Given the description of an element on the screen output the (x, y) to click on. 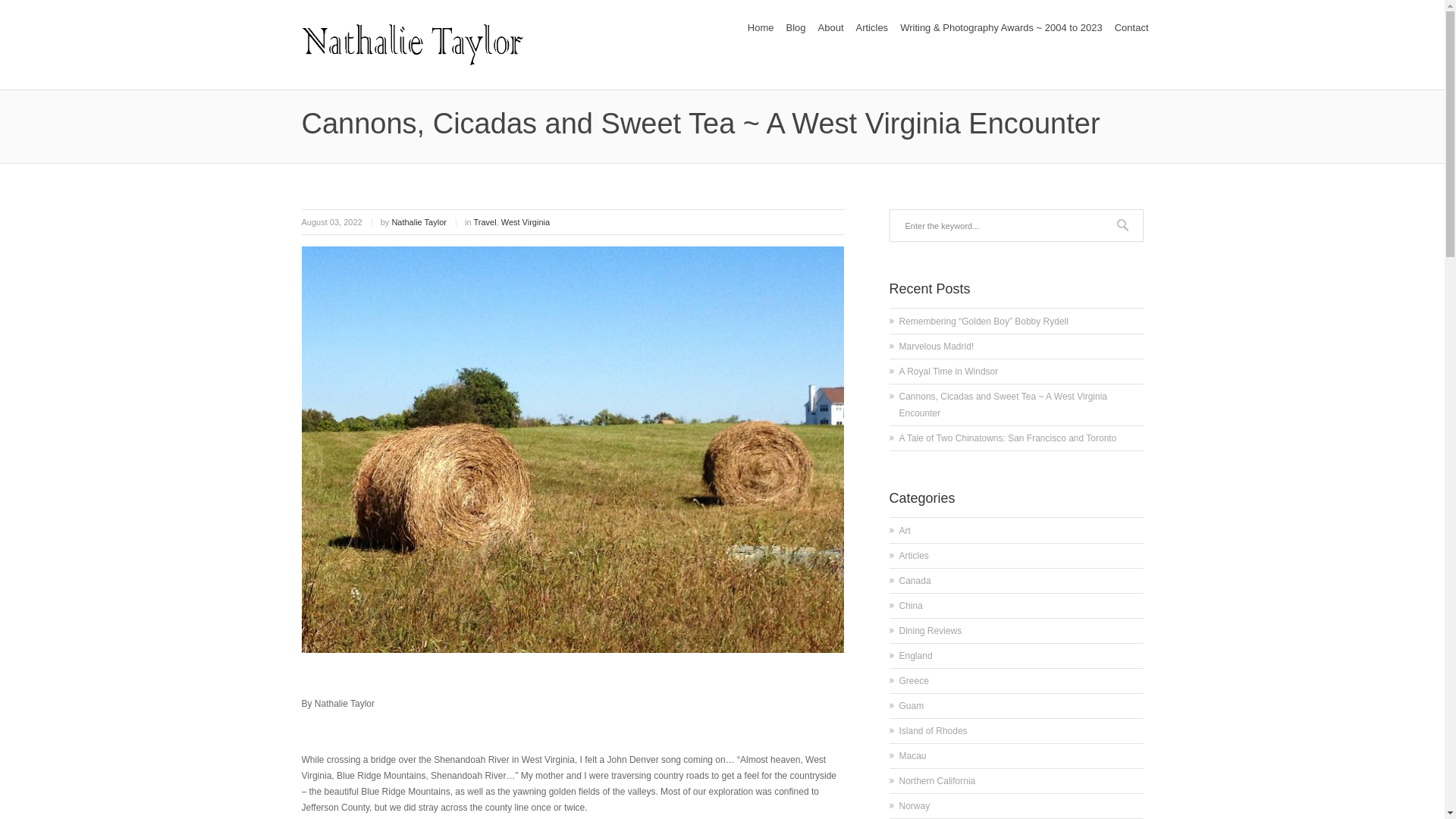
Art (905, 530)
A Royal Time in Windsor (948, 371)
Norway (914, 805)
Articles (870, 27)
Blog (794, 27)
West Virginia (525, 221)
Travel (484, 221)
Marvelous Madrid! (936, 346)
Canada (915, 580)
View all posts filed under Articles (913, 555)
